Given the description of an element on the screen output the (x, y) to click on. 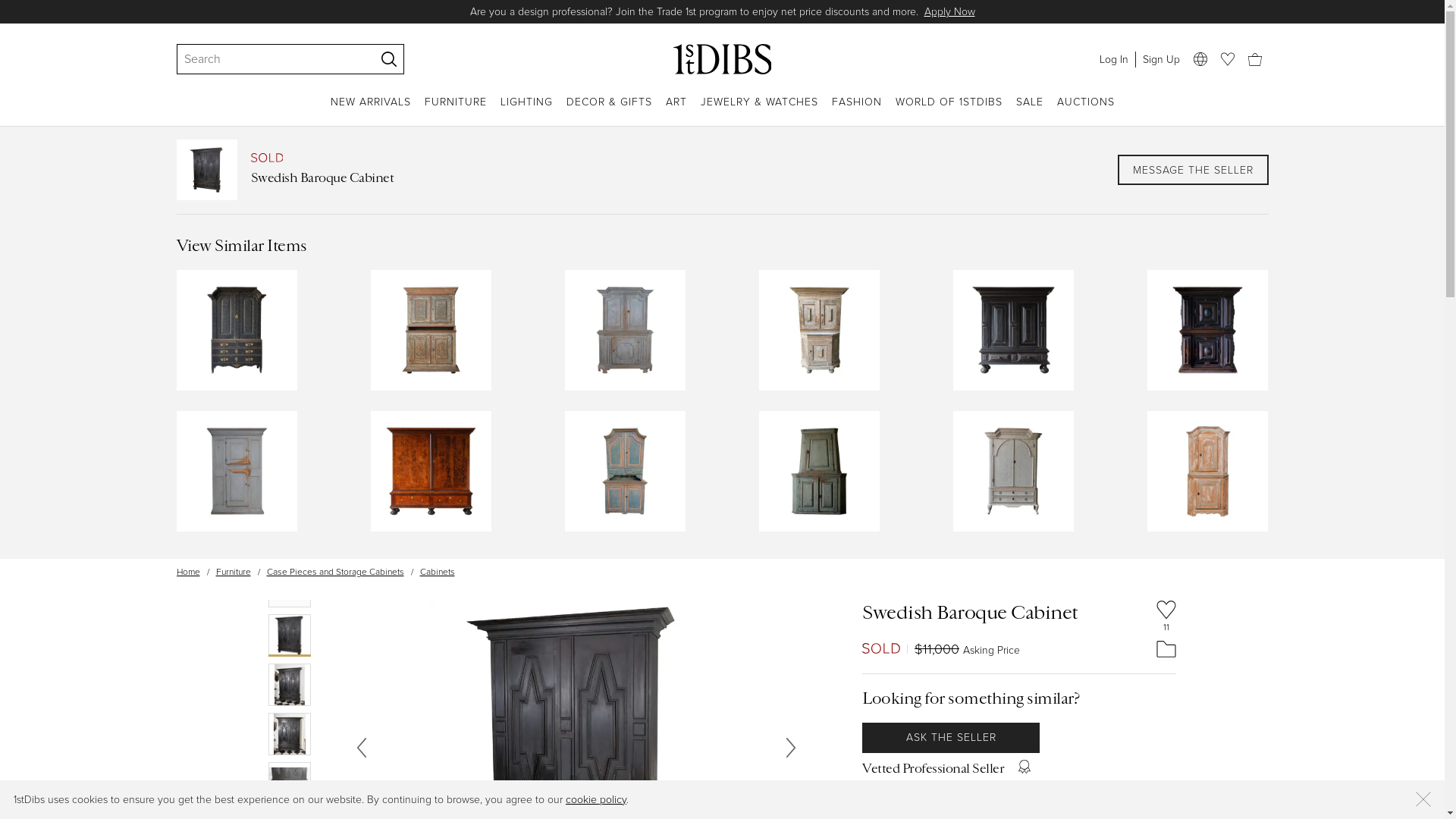
WORLD OF 1STDIBS Element type: text (947, 109)
Cabinets Element type: text (437, 571)
JEWELRY & WATCHES Element type: text (759, 109)
ASK THE SELLER Element type: text (950, 737)
FASHION Element type: text (856, 109)
DECOR & GIFTS Element type: text (608, 109)
SALE Element type: text (1029, 109)
SKIP TO MAIN CONTENT Element type: text (6, 6)
Sign Up Element type: text (1160, 59)
Log In Element type: text (1113, 59)
Details Element type: text (885, 11)
Vetted Professional Seller Element type: text (933, 767)
Furniture Element type: text (232, 571)
Search Element type: hover (268, 58)
FURNITURE Element type: text (455, 109)
Home Element type: text (187, 571)
NEW ARRIVALS Element type: text (370, 109)
Case Pieces and Storage Cabinets Element type: text (335, 571)
4.2 Element type: text (900, 792)
MESSAGE THE SELLER Element type: text (1192, 169)
LIGHTING Element type: text (526, 109)
ART Element type: text (676, 109)
AUCTIONS Element type: text (1085, 109)
cookie policy Element type: text (595, 799)
